Given the description of an element on the screen output the (x, y) to click on. 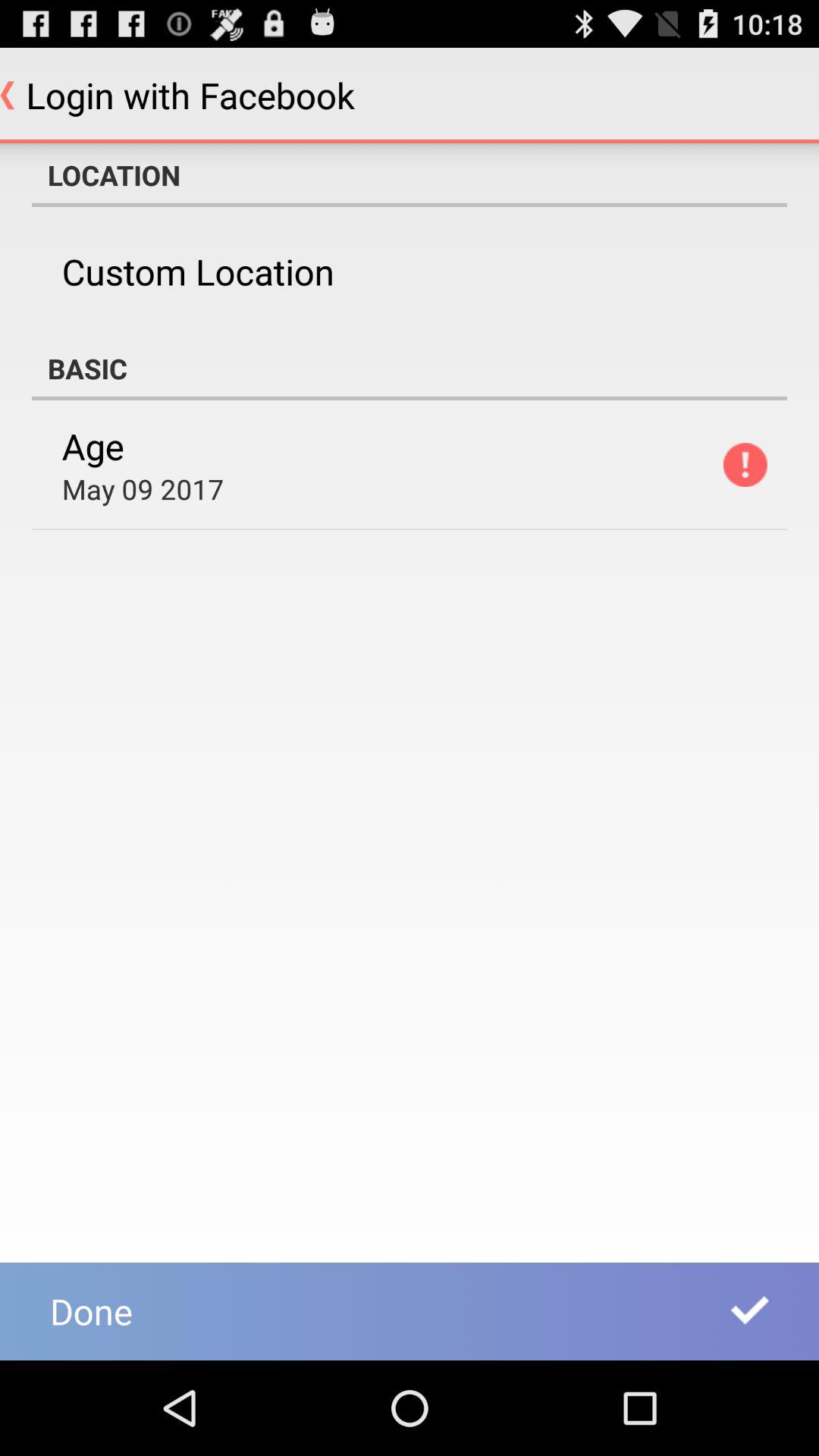
click the item to the right of the may 09 2017 app (745, 464)
